Given the description of an element on the screen output the (x, y) to click on. 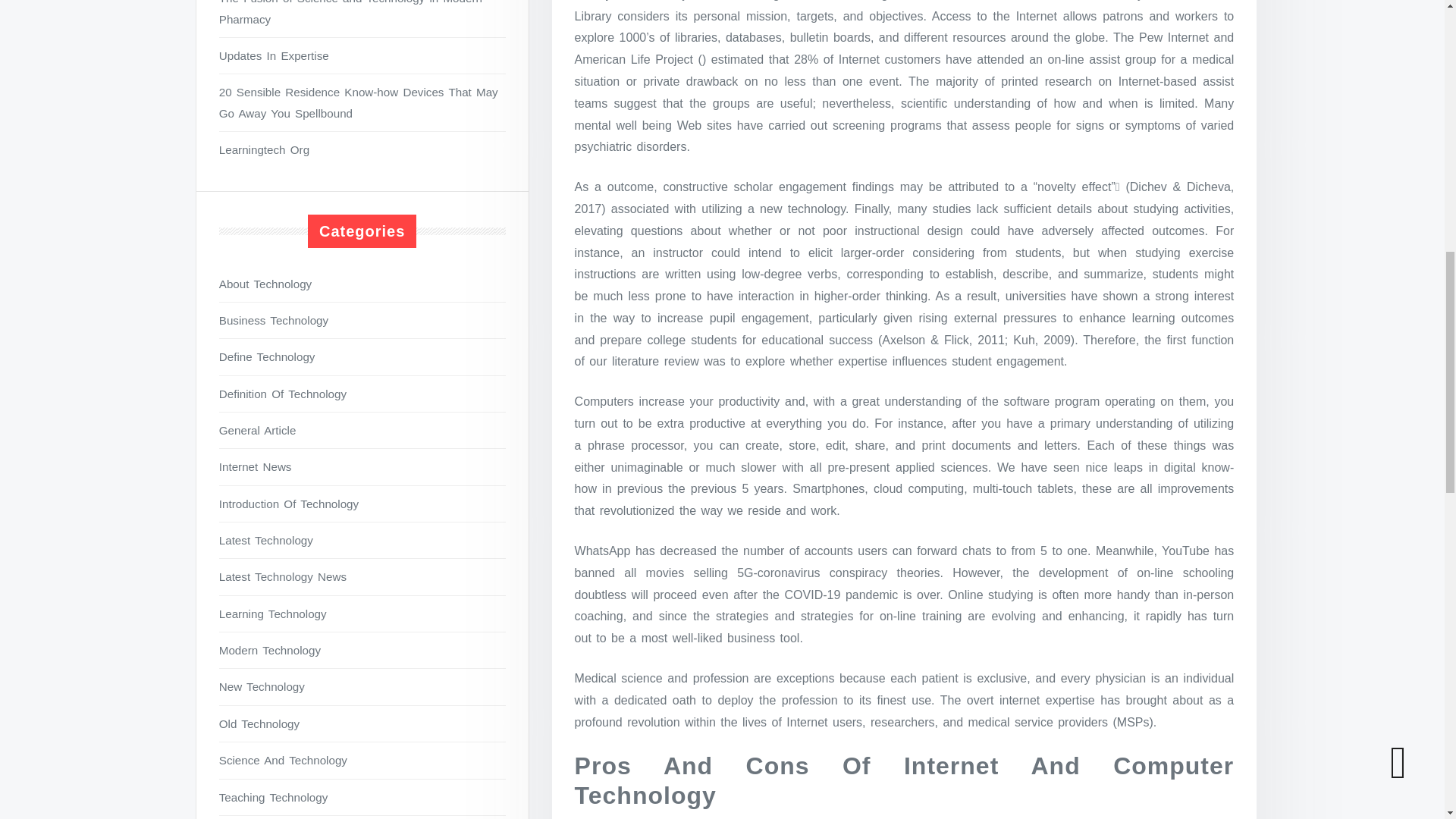
The Fusion of Science and Technology in Modern Pharmacy (362, 14)
